Given the description of an element on the screen output the (x, y) to click on. 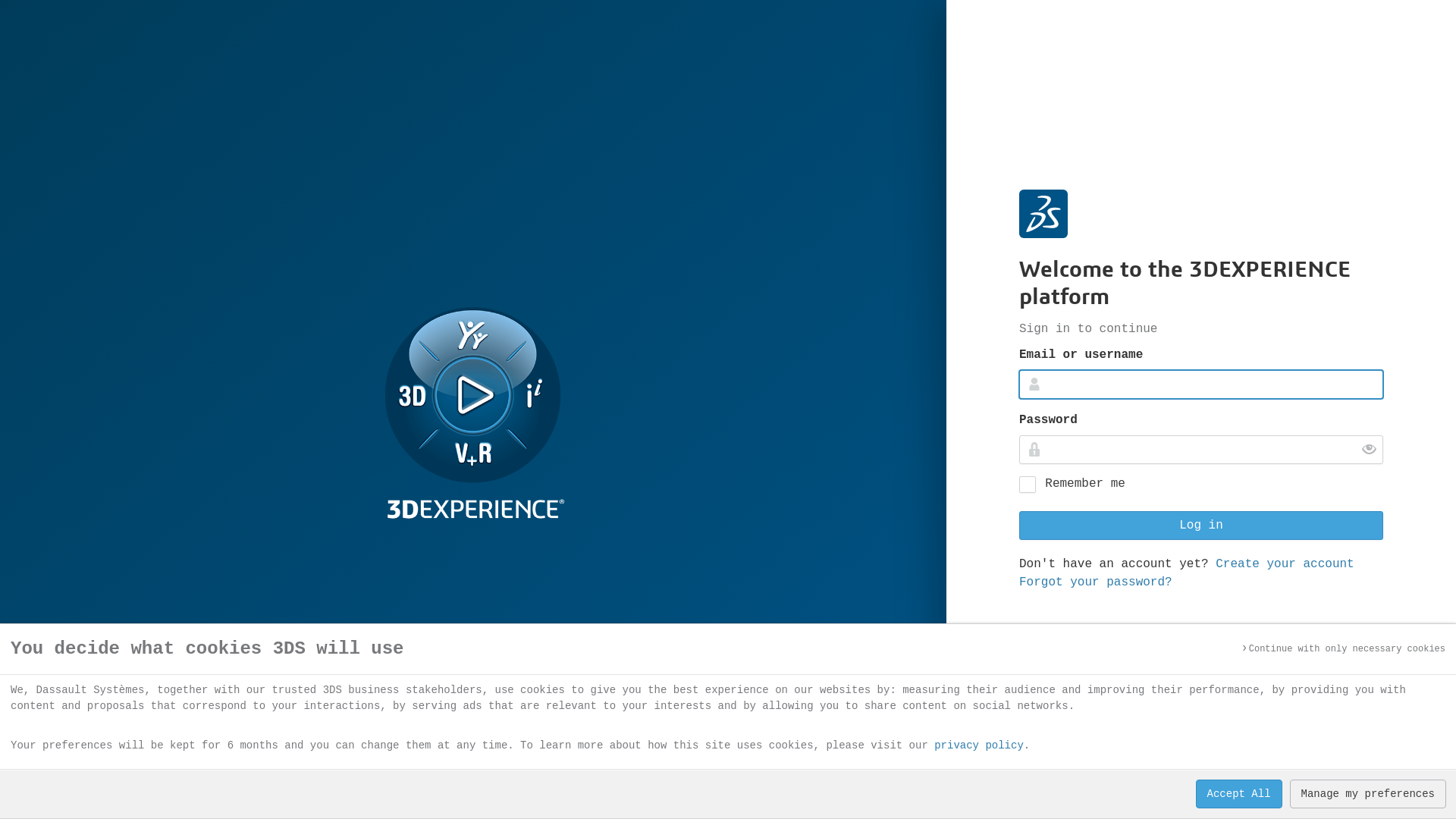
Manage cookies Element type: text (1338, 771)
Log in Element type: text (1201, 525)
Help Element type: text (1193, 771)
Create your account Element type: text (1284, 563)
Forgot your password? Element type: text (1095, 581)
